Given the description of an element on the screen output the (x, y) to click on. 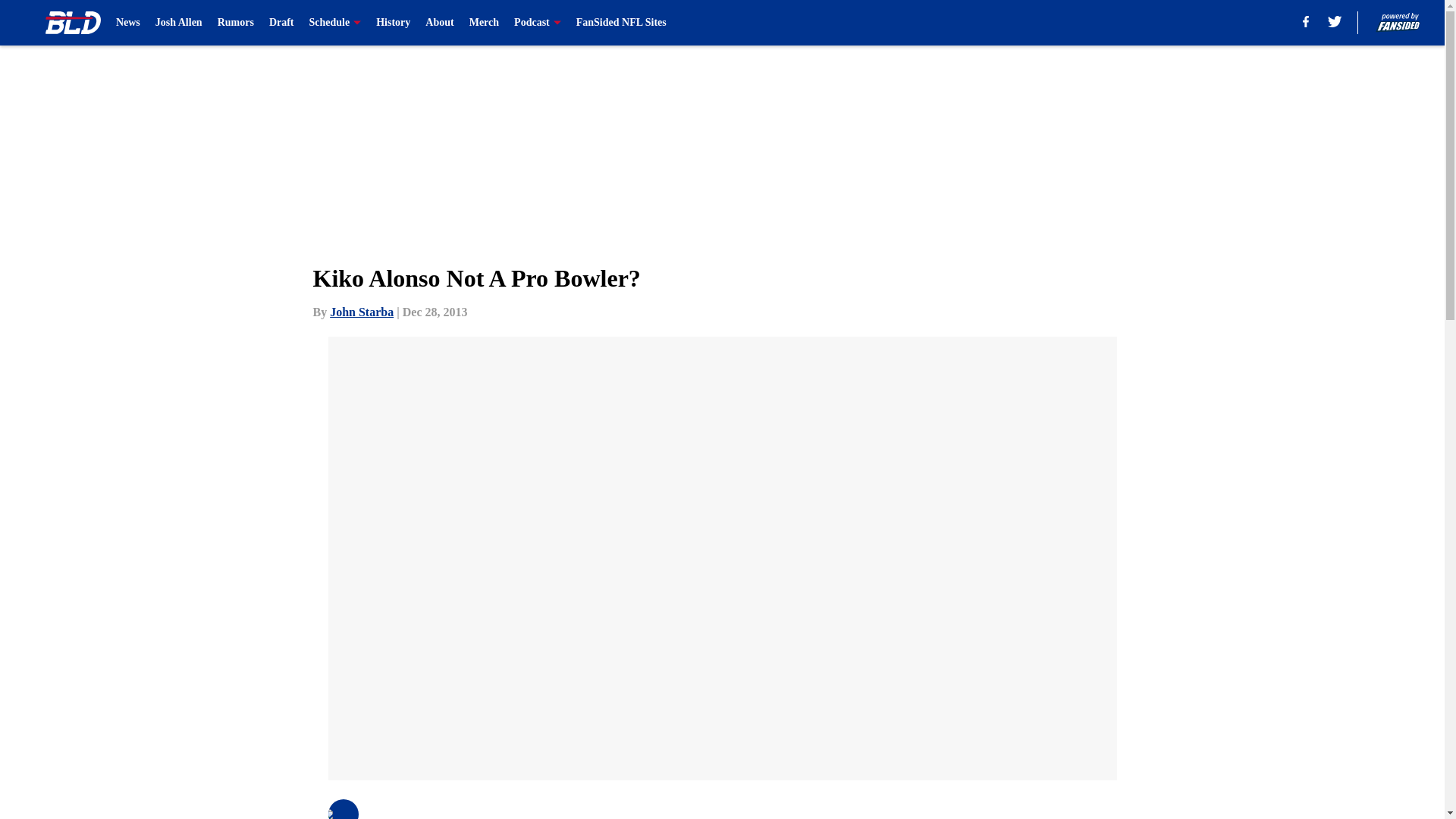
Rumors (234, 22)
Josh Allen (178, 22)
News (127, 22)
Merch (483, 22)
FanSided NFL Sites (621, 22)
John Starba (361, 311)
Draft (281, 22)
History (392, 22)
About (438, 22)
